Given the description of an element on the screen output the (x, y) to click on. 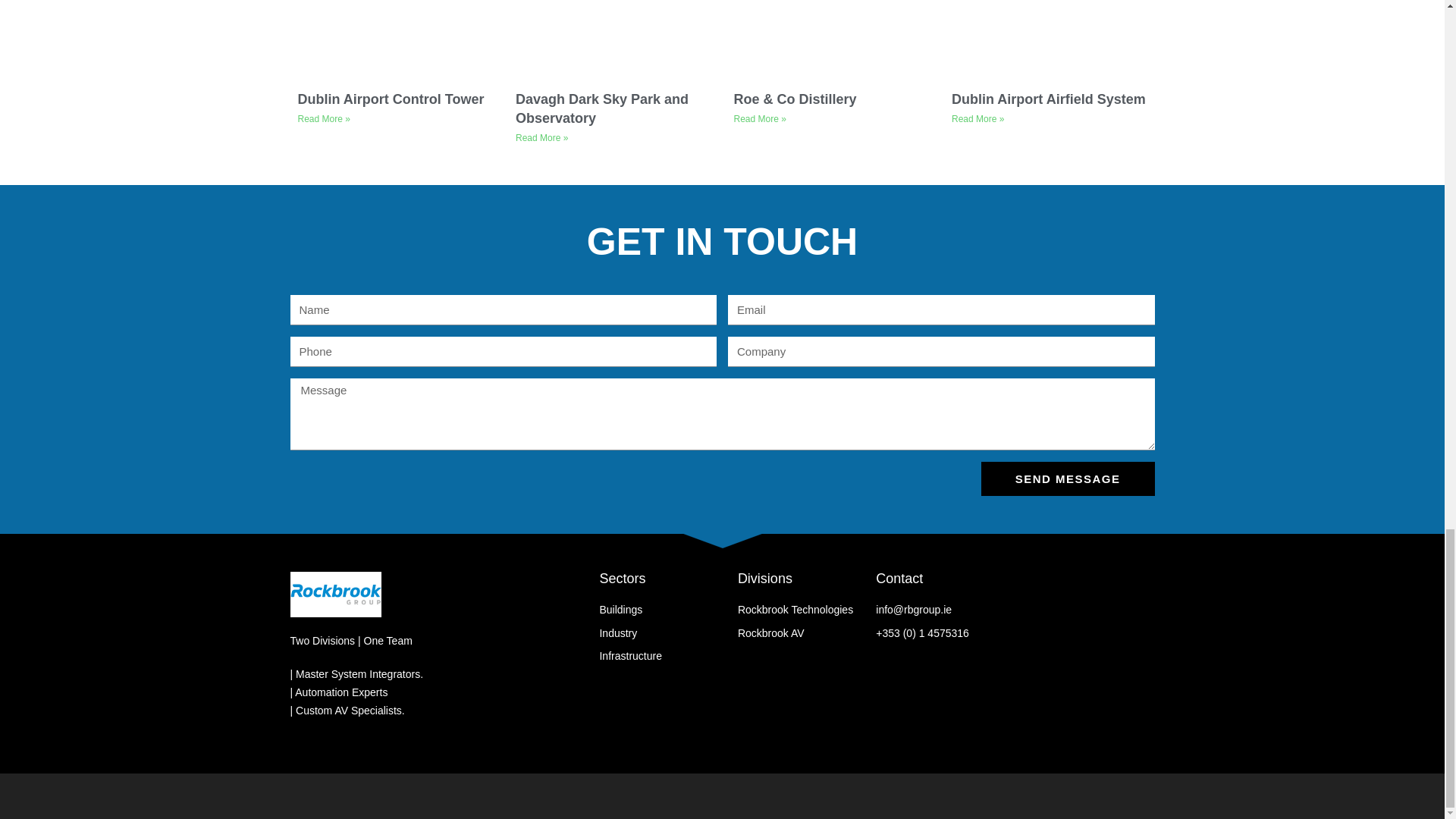
Dublin Airport Airfield System (1048, 99)
SEND MESSAGE (1067, 478)
Davagh Dark Sky Park and Observatory (601, 108)
Industry (667, 633)
Buildings (667, 609)
Dublin Airport Control Tower (390, 99)
Infrastructure (667, 656)
